Given the description of an element on the screen output the (x, y) to click on. 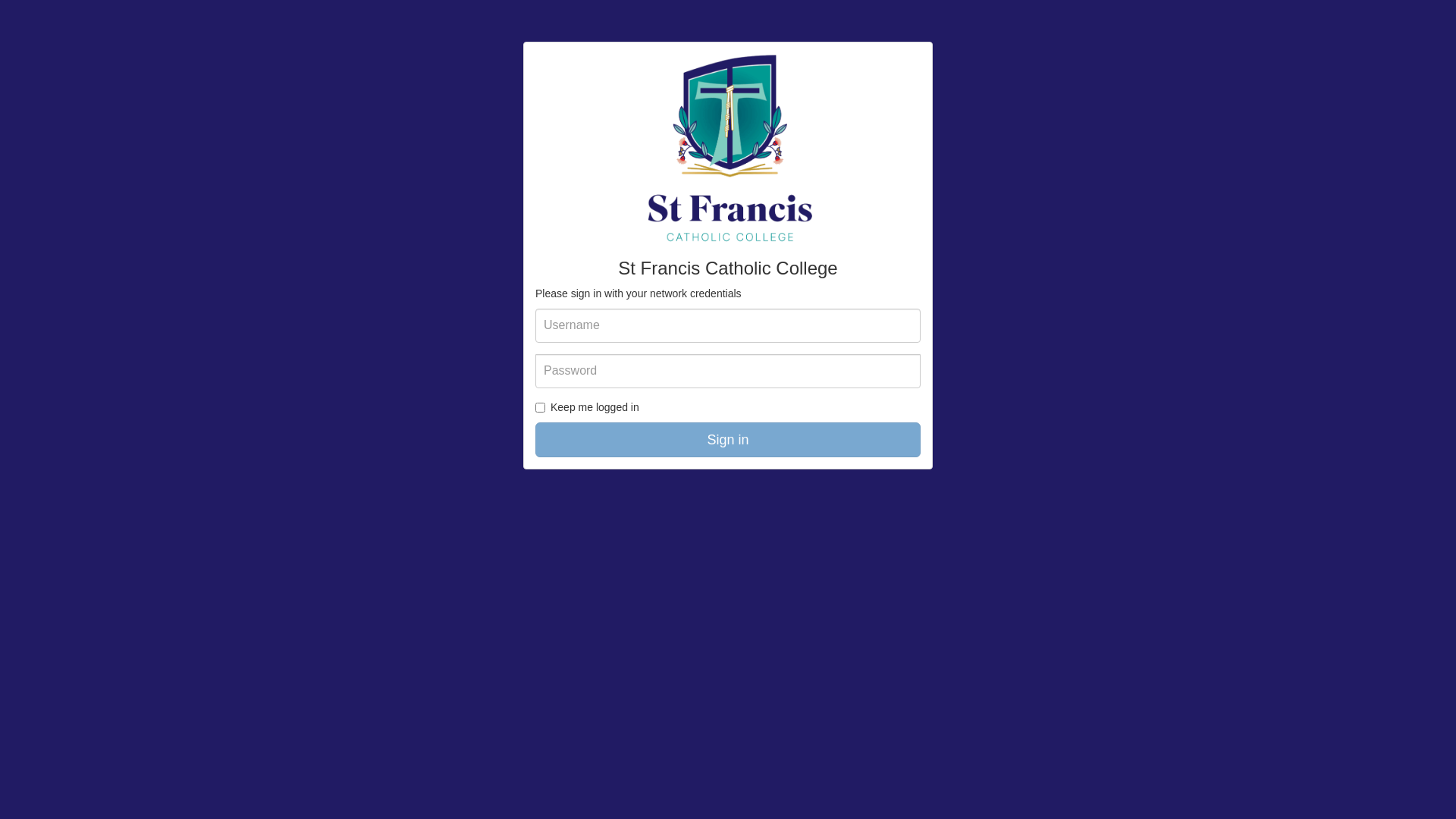
Sign in Element type: text (727, 439)
